Given the description of an element on the screen output the (x, y) to click on. 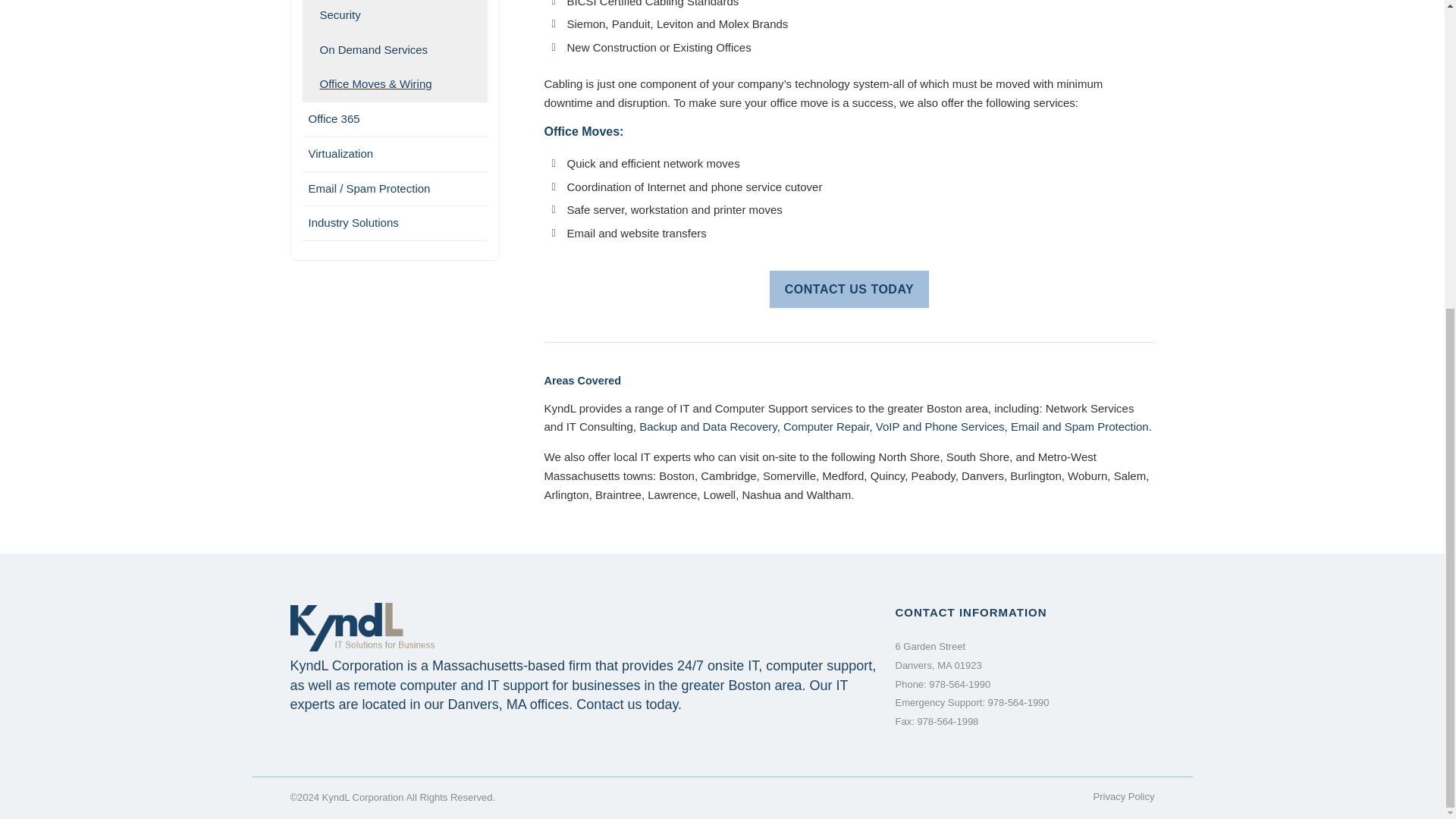
CONTACT US TODAY (849, 289)
Backup and Data Recovery (708, 426)
Email and Spam Protection (1079, 426)
Computer Repair (826, 426)
VoIP and Phone Services (940, 426)
